Given the description of an element on the screen output the (x, y) to click on. 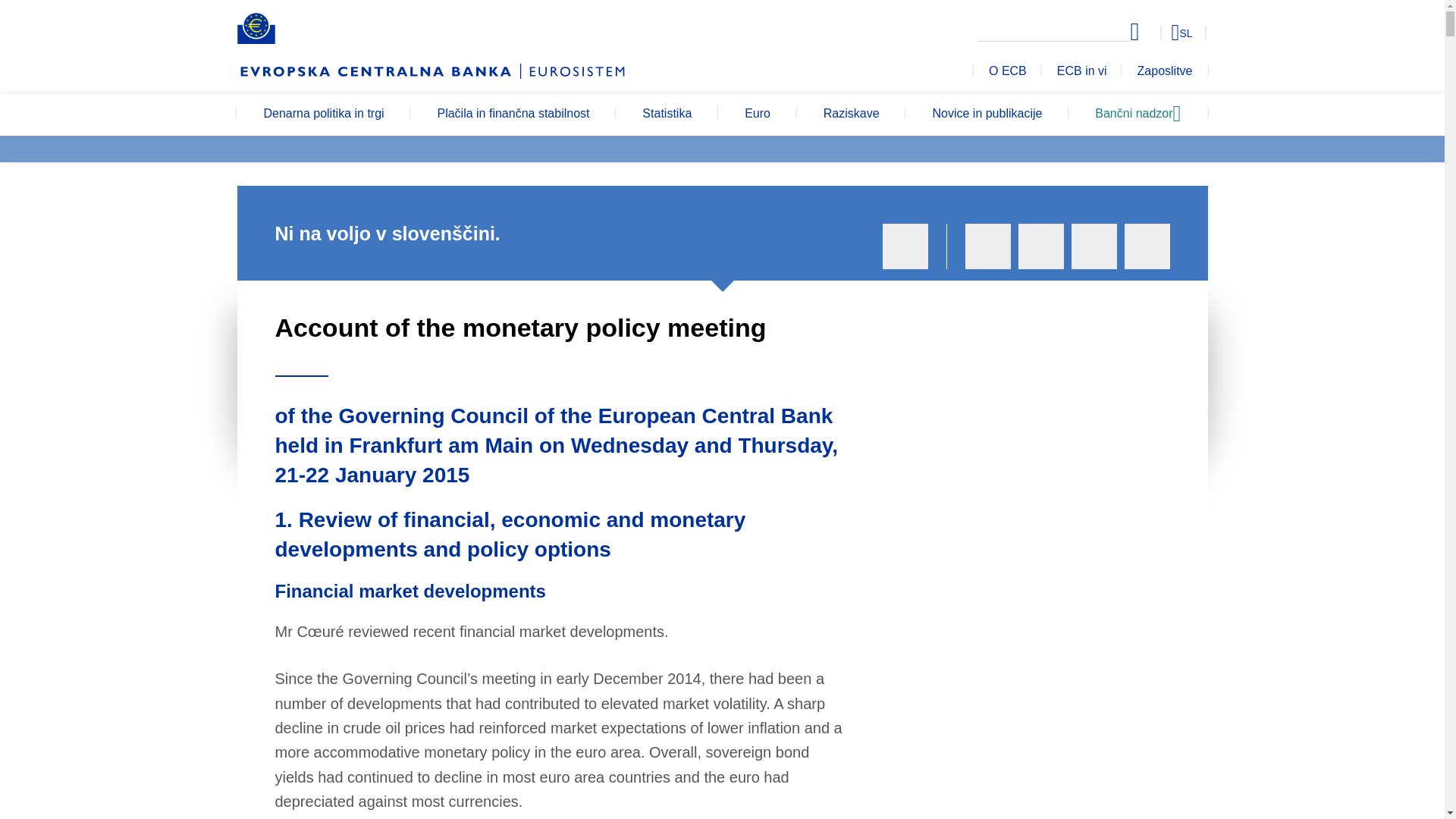
Denarna politika in trgi (322, 114)
Select language (1153, 32)
